Given the description of an element on the screen output the (x, y) to click on. 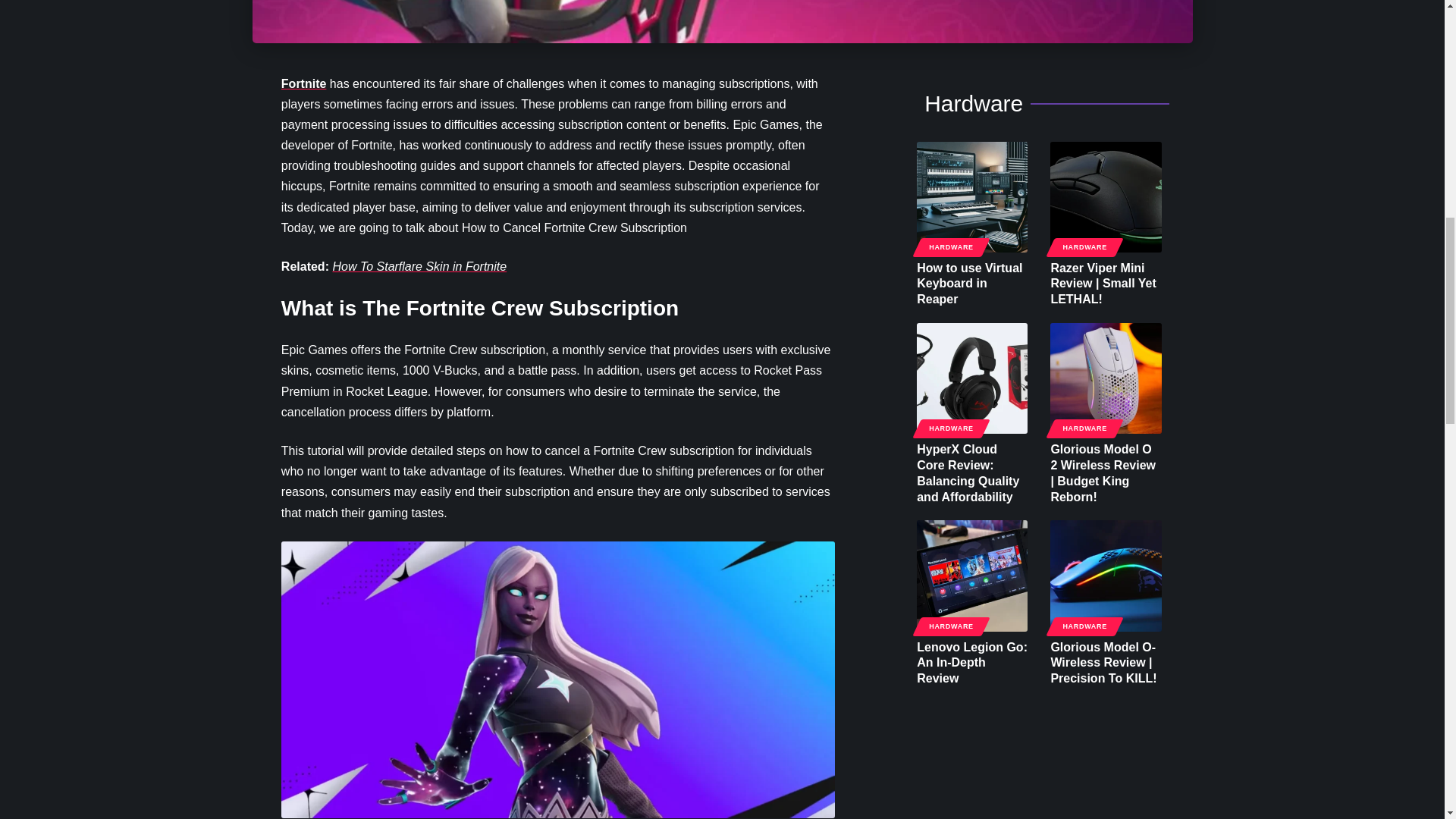
How to use Virtual Keyboard in Reaper (972, 195)
How To Starflare Skin in Fortnite (418, 266)
Lenovo Legion Go: An In-Depth Review (972, 575)
Fortnite (303, 83)
